Given the description of an element on the screen output the (x, y) to click on. 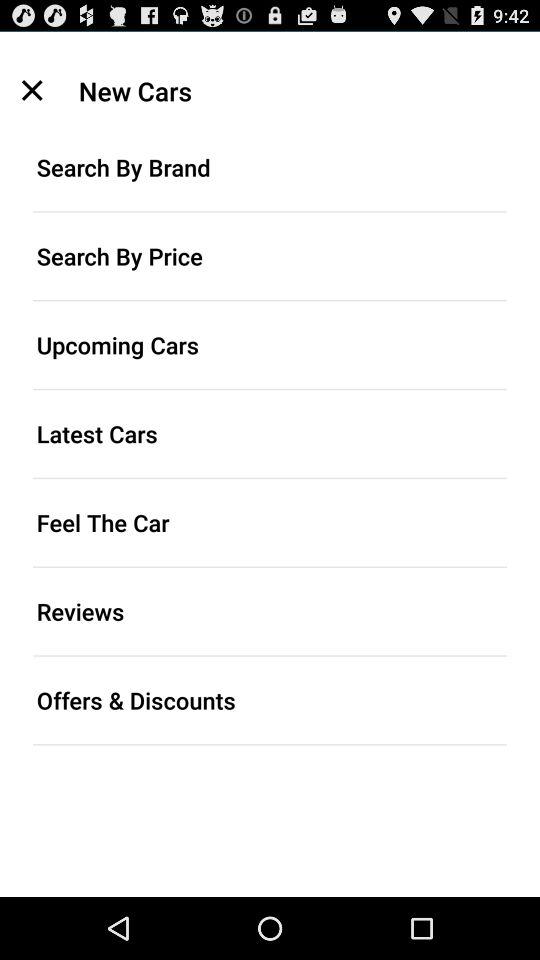
choose the icon above search by brand icon (32, 90)
